Given the description of an element on the screen output the (x, y) to click on. 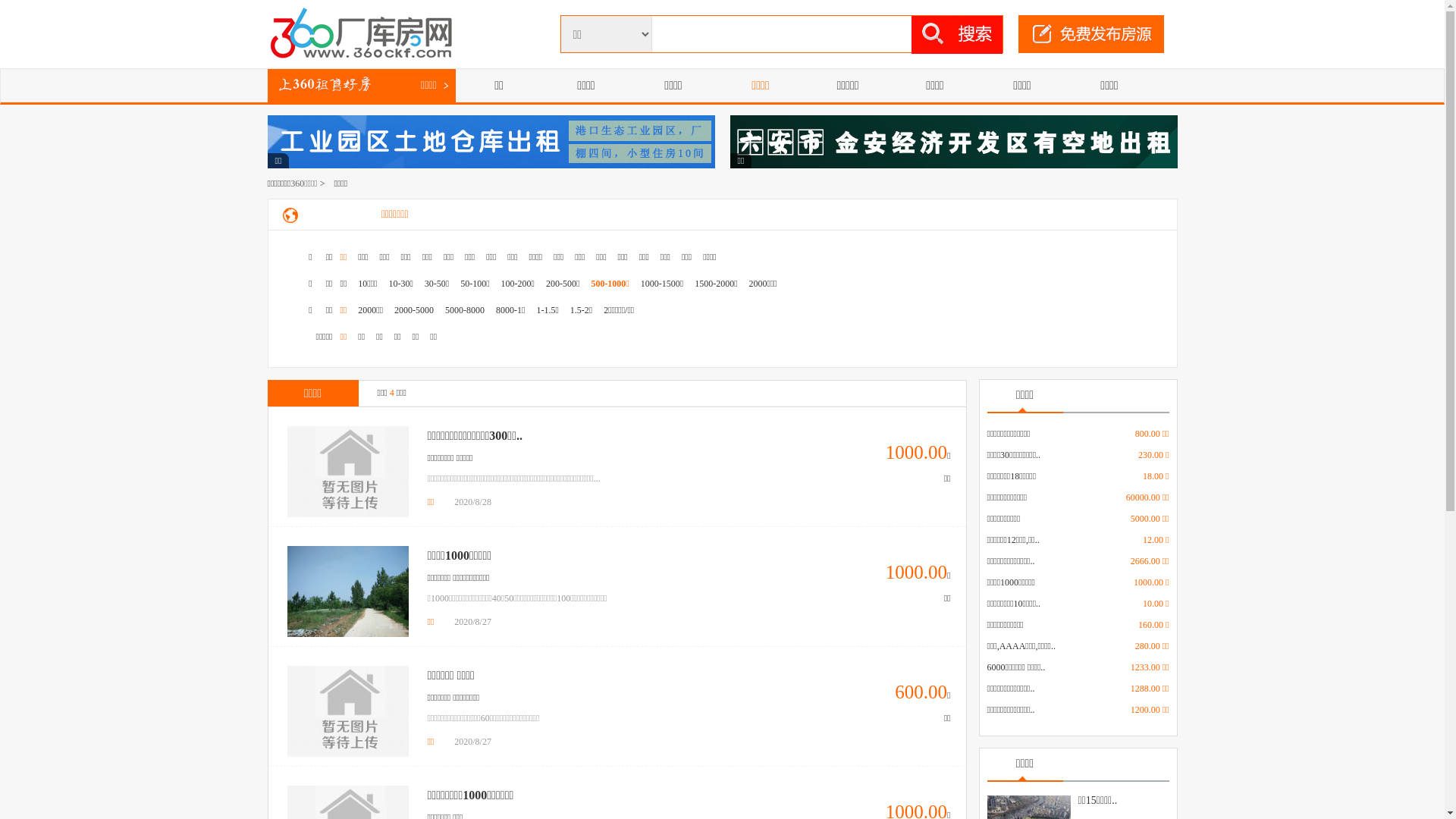
5000-8000 Element type: text (464, 310)
2000-5000 Element type: text (413, 310)
